Given the description of an element on the screen output the (x, y) to click on. 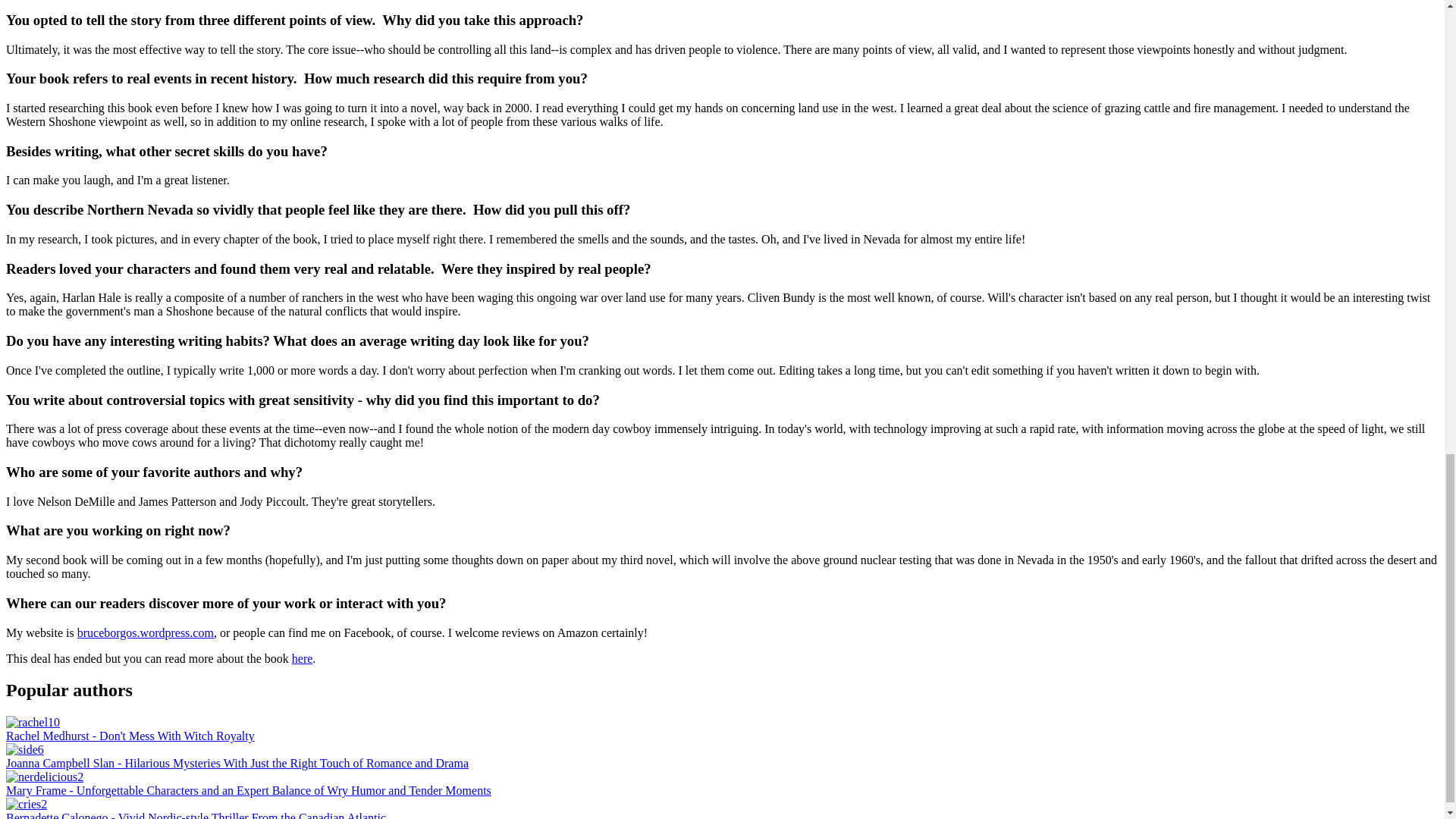
Rachel Medhurst - Don't Mess With Witch Royalty (129, 735)
bruceborgos.wordpress.com (145, 632)
here (302, 658)
